Given the description of an element on the screen output the (x, y) to click on. 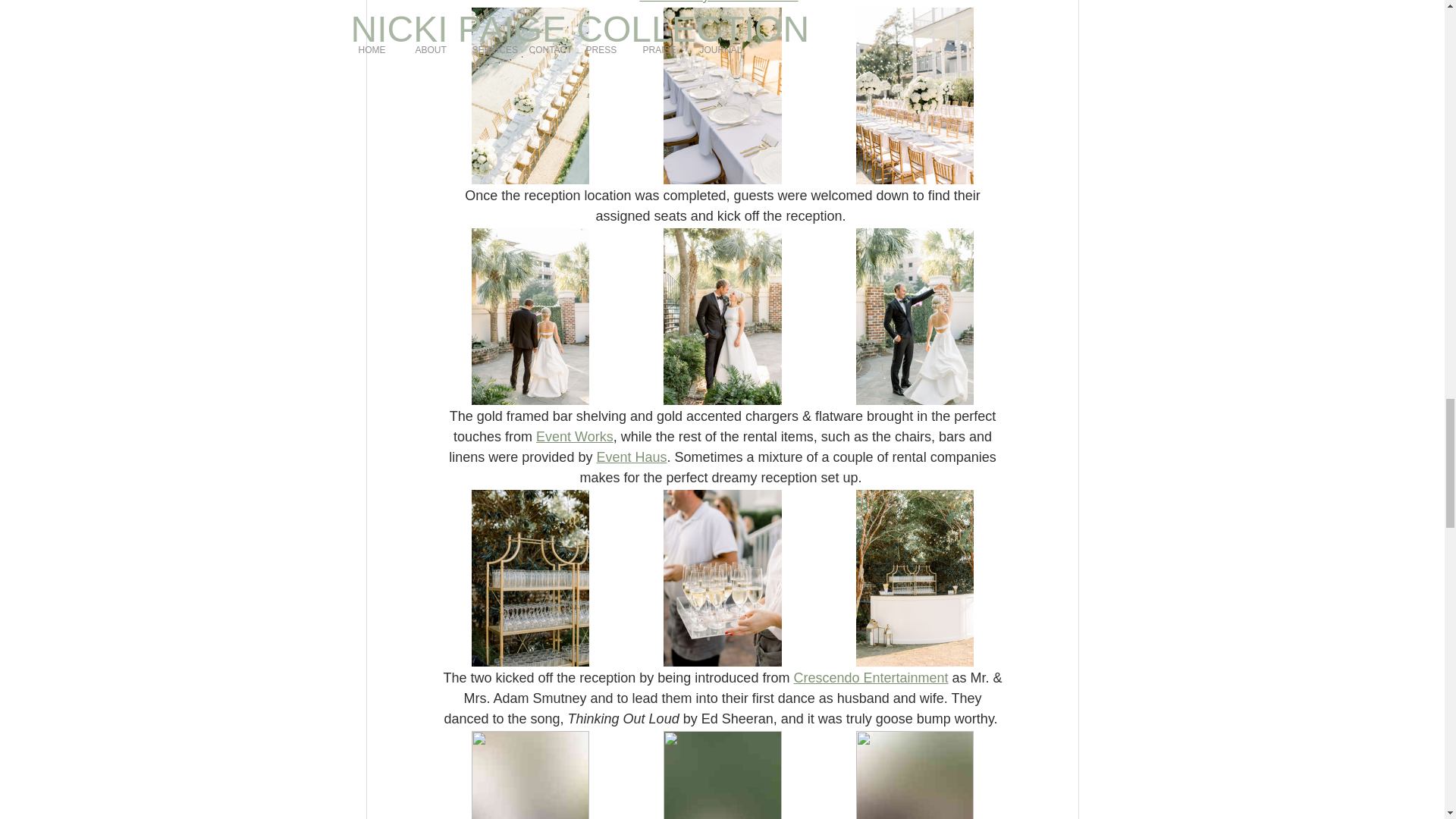
Event Haus (630, 457)
Crescendo Entertainment (870, 677)
Lowcountry Entertainment (718, 1)
Event Works (573, 436)
